Given the description of an element on the screen output the (x, y) to click on. 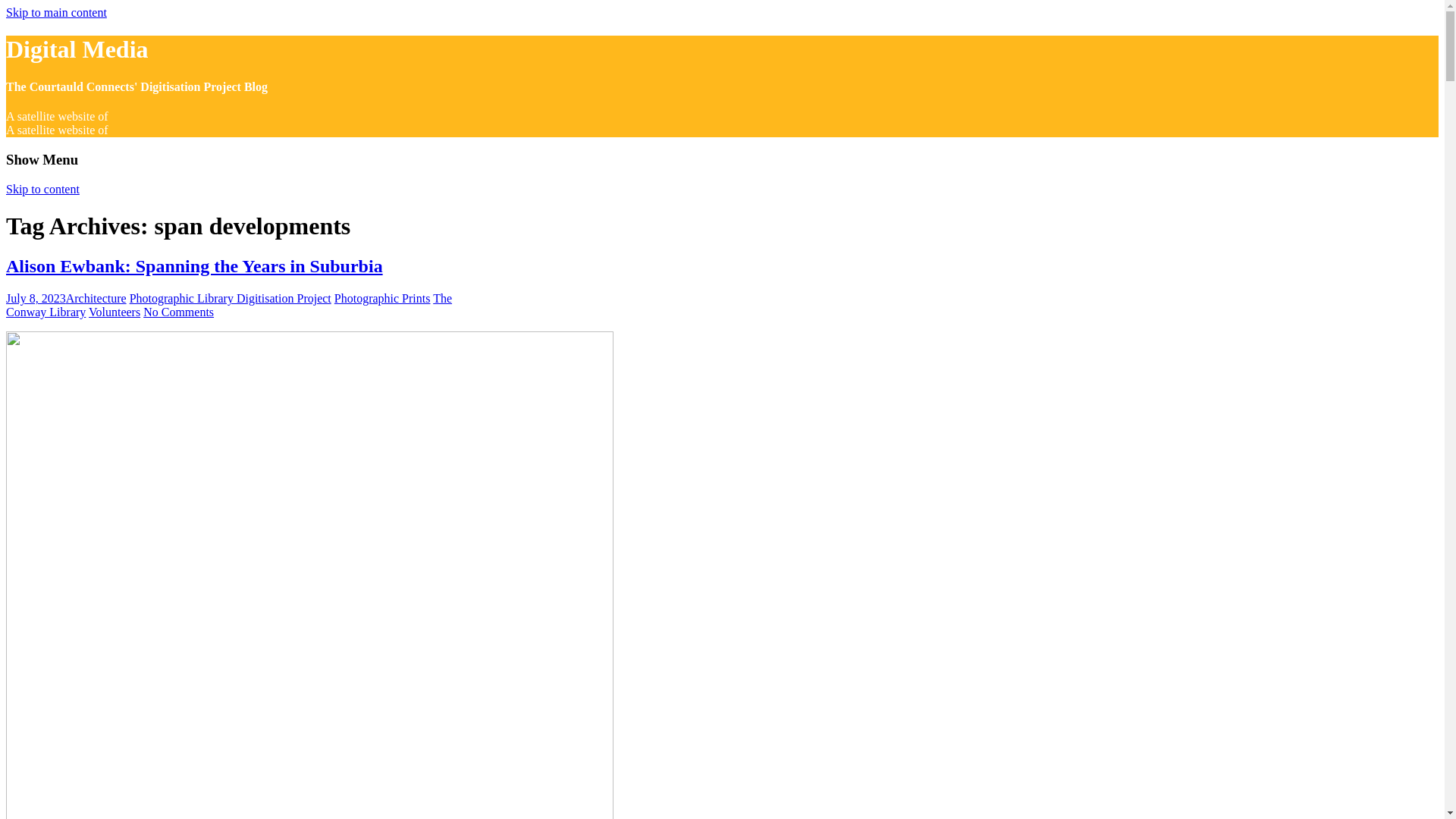
Permalink to Alison Ewbank: Spanning the Years in Suburbia (193, 266)
Alison Ewbank: Spanning the Years in Suburbia (193, 266)
Photographic Prints (382, 297)
Skip to content (42, 188)
July 8, 2023 (35, 297)
The Conway Library (228, 304)
Skip to content (42, 188)
No Comments (178, 311)
Volunteers (113, 311)
Architecture (95, 297)
Comment on Alison Ewbank: Spanning the Years in Suburbia (178, 311)
Skip to main content (55, 11)
Photographic Library Digitisation Project (230, 297)
Skip to main content (55, 11)
